Given the description of an element on the screen output the (x, y) to click on. 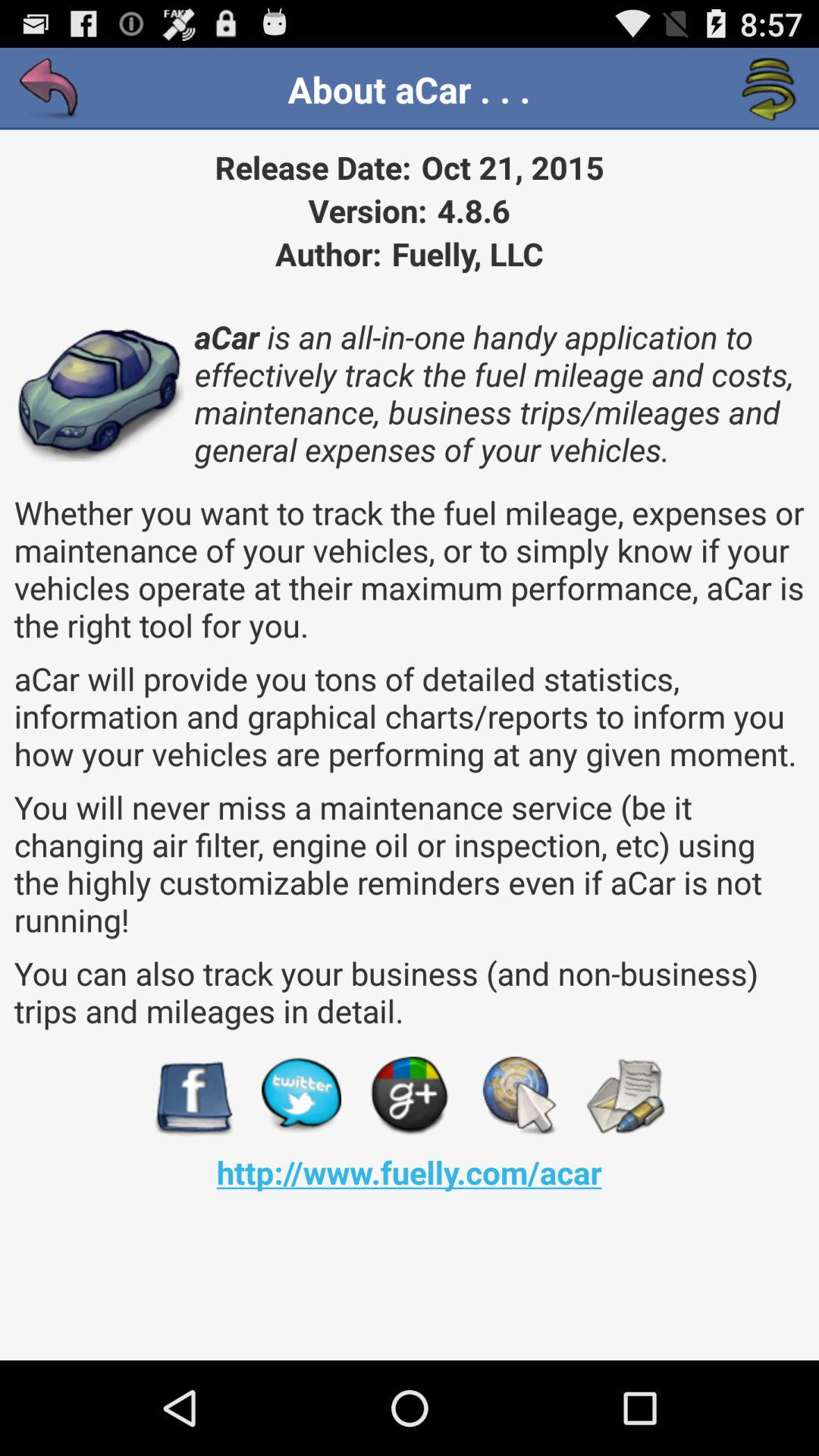
select the app below the you can also item (625, 1096)
